Given the description of an element on the screen output the (x, y) to click on. 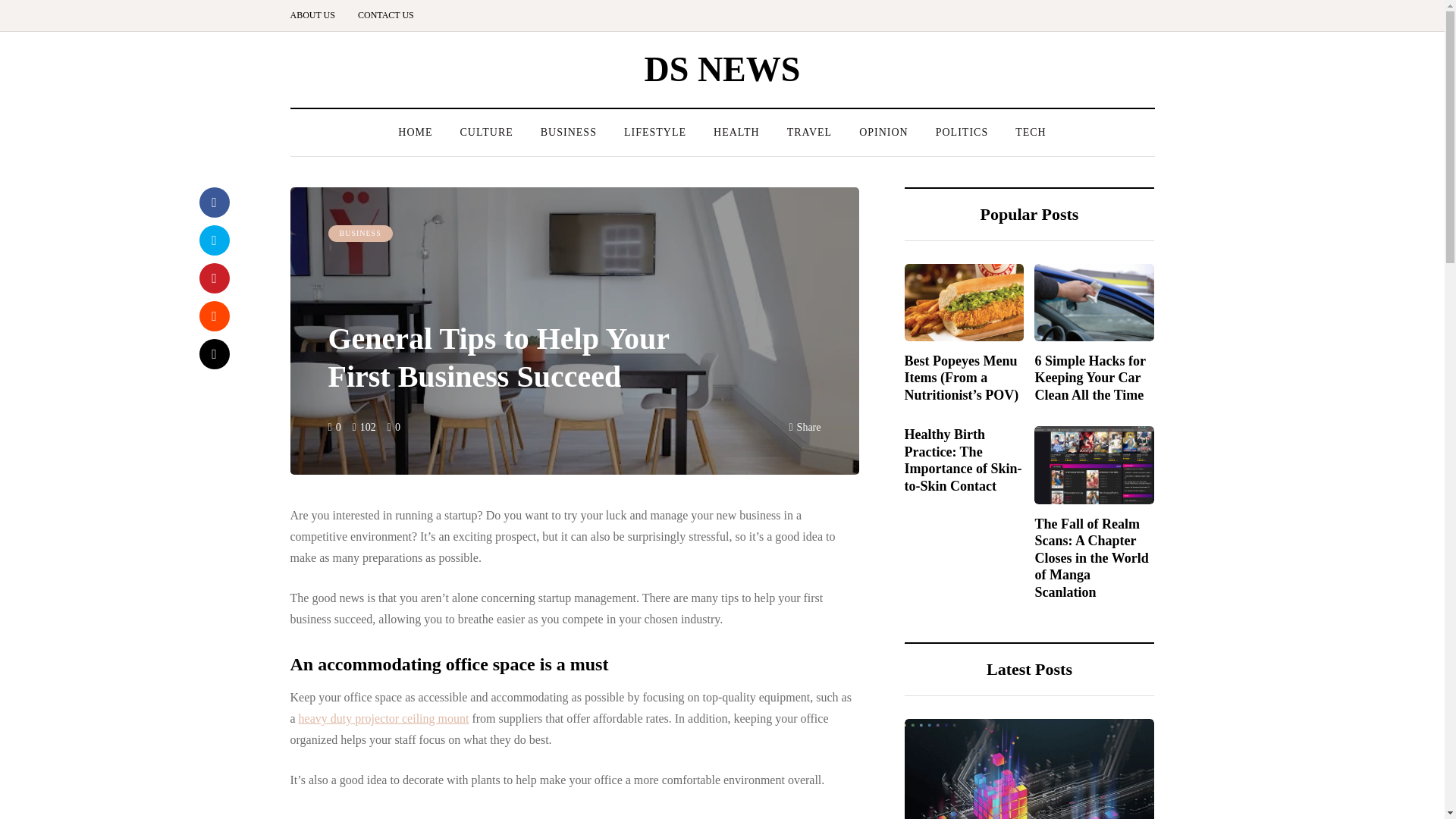
Share by Email (213, 354)
BUSINESS (359, 233)
Tweet this (213, 240)
Pin this (213, 277)
HEALTH (736, 132)
Share with Facebook (213, 202)
DS NEWS (722, 68)
LIFESTYLE (655, 132)
ABOUT US (317, 15)
CULTURE (485, 132)
BUSINESS (568, 132)
TRAVEL (809, 132)
HOME (414, 132)
POLITICS (961, 132)
OPINION (883, 132)
